Given the description of an element on the screen output the (x, y) to click on. 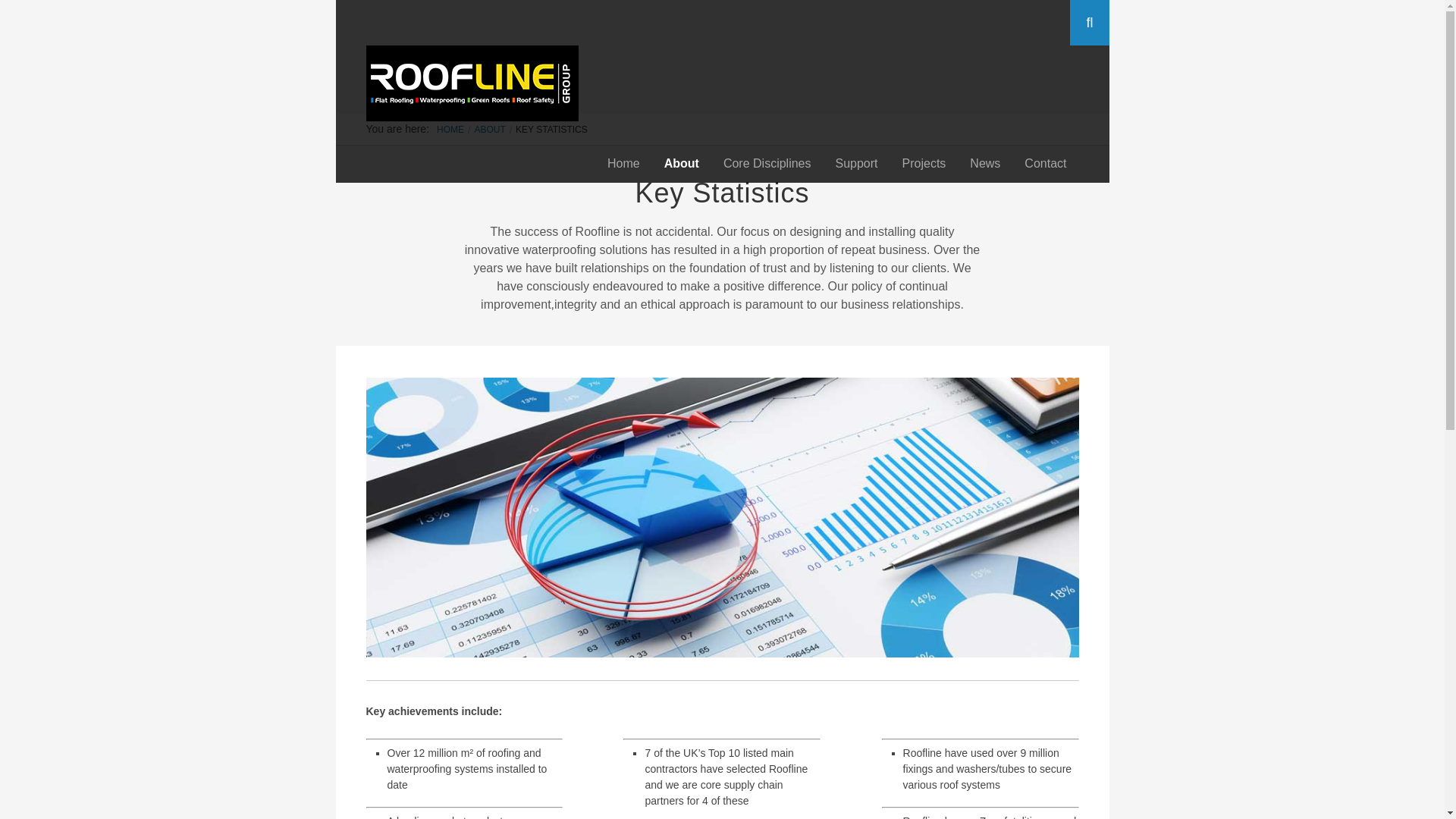
ABOUT (489, 129)
HOME (450, 129)
Home (623, 163)
Core Disciplines (767, 163)
About (681, 163)
Support (856, 163)
Contact (1044, 163)
Projects (923, 163)
News (984, 163)
